Given the description of an element on the screen output the (x, y) to click on. 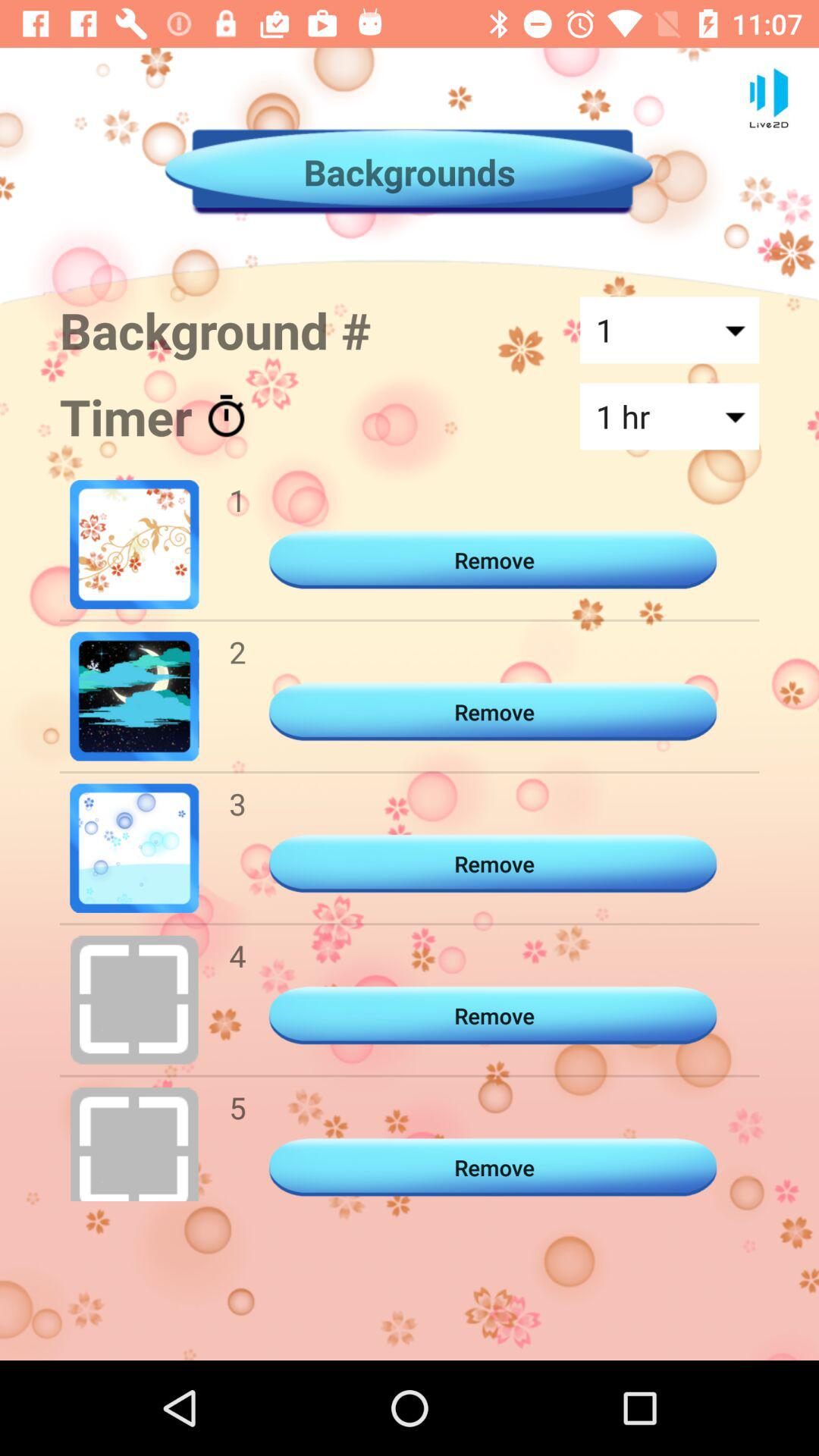
turn off the icon above the 5 item (237, 955)
